Given the description of an element on the screen output the (x, y) to click on. 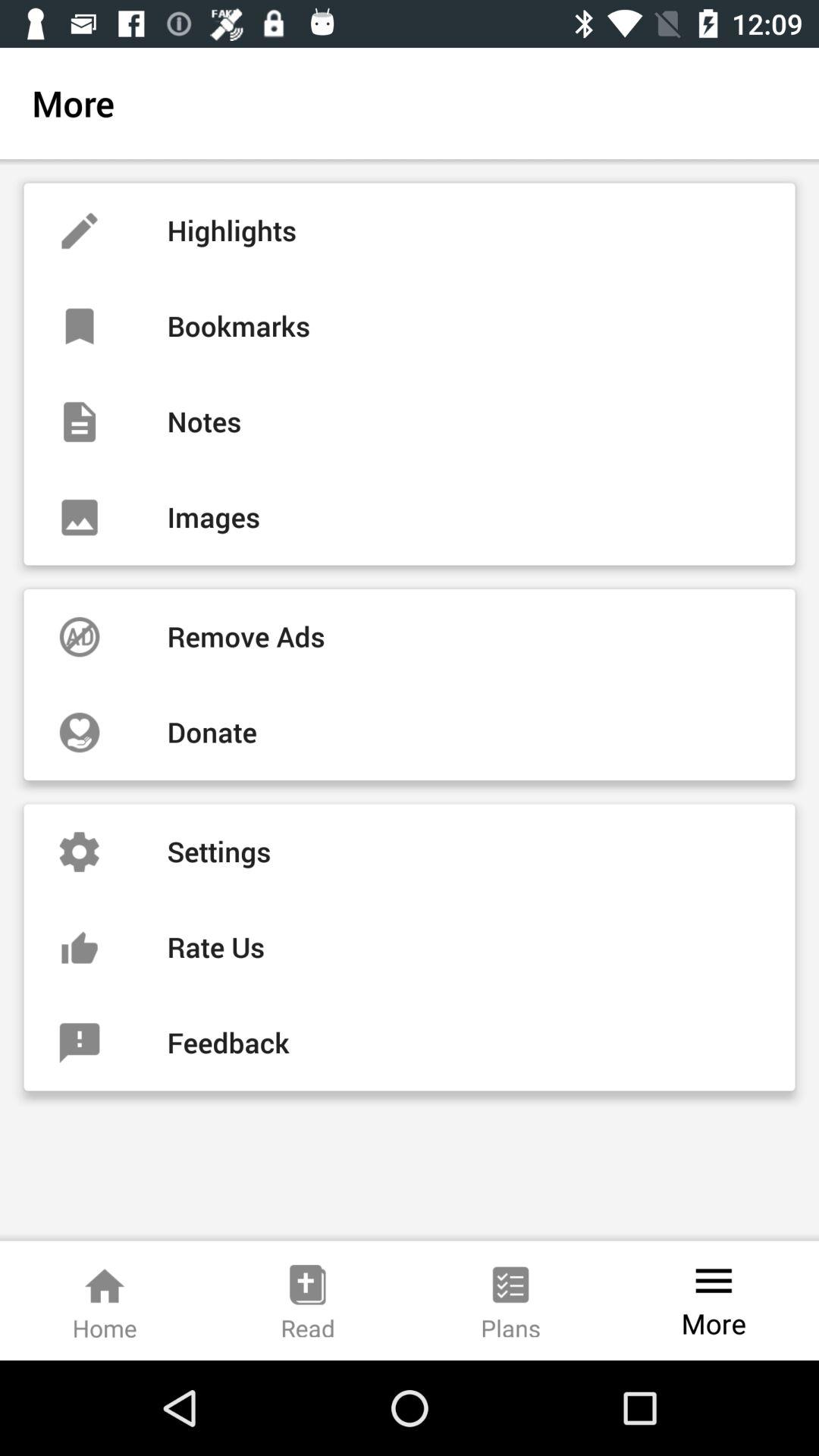
open the icon below the donate (409, 851)
